Given the description of an element on the screen output the (x, y) to click on. 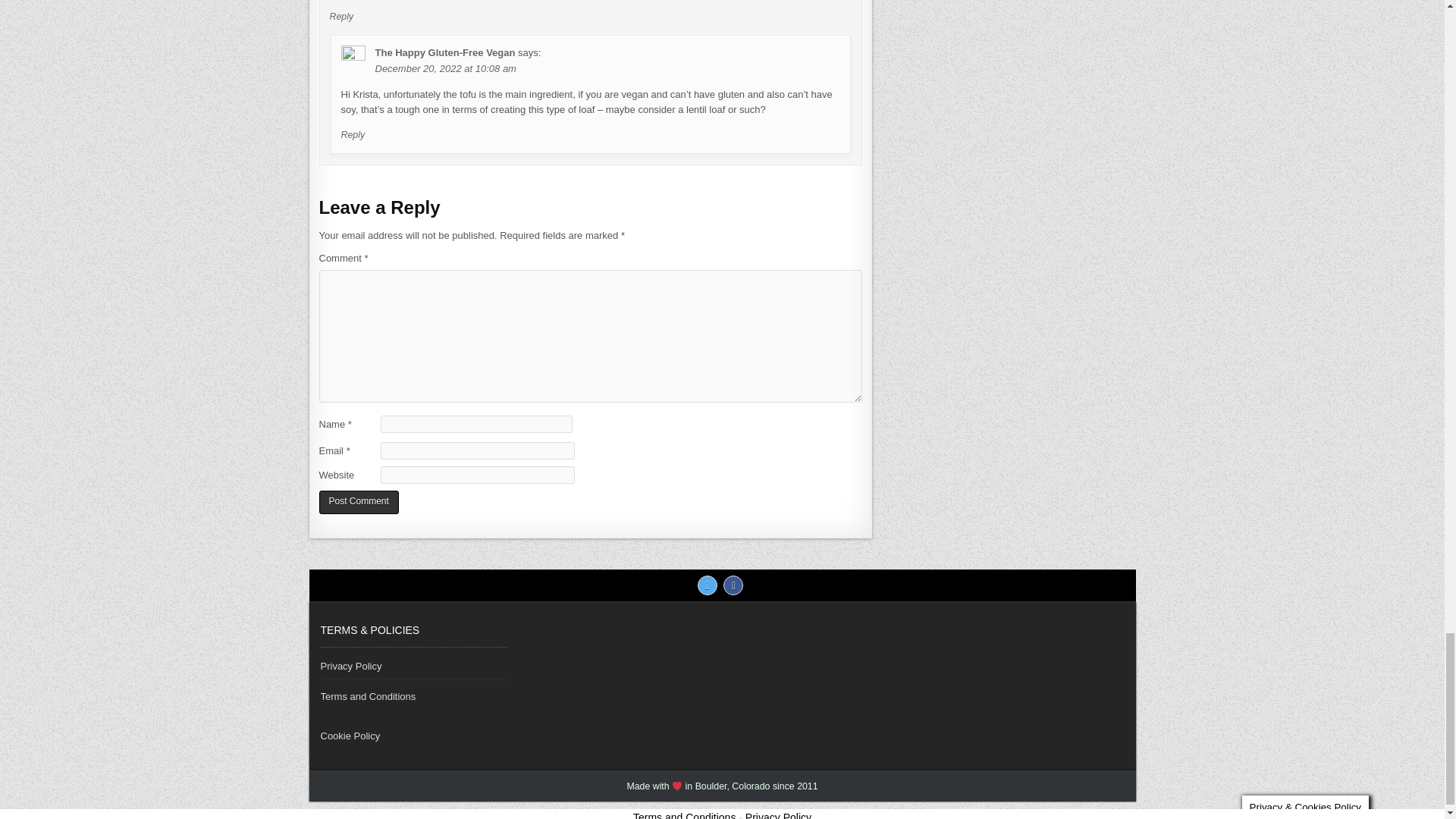
Post Comment (357, 502)
